Given the description of an element on the screen output the (x, y) to click on. 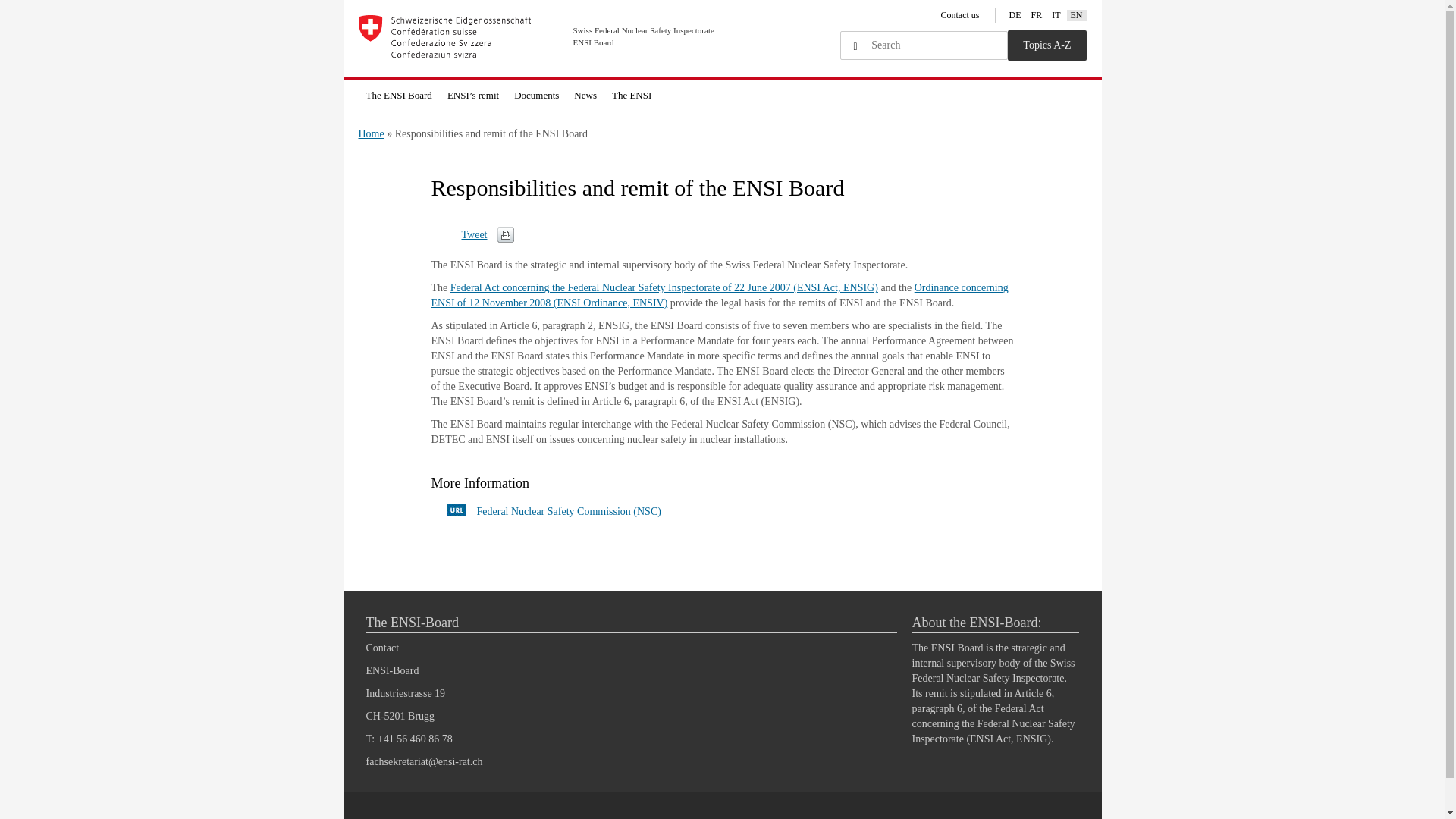
FR (1036, 14)
Search (855, 46)
EN (1076, 14)
DE (1014, 14)
Swiss Federal Nuclear Safety Inspectorate ENSI Board (540, 38)
Topics A-Z (1046, 45)
